Given the description of an element on the screen output the (x, y) to click on. 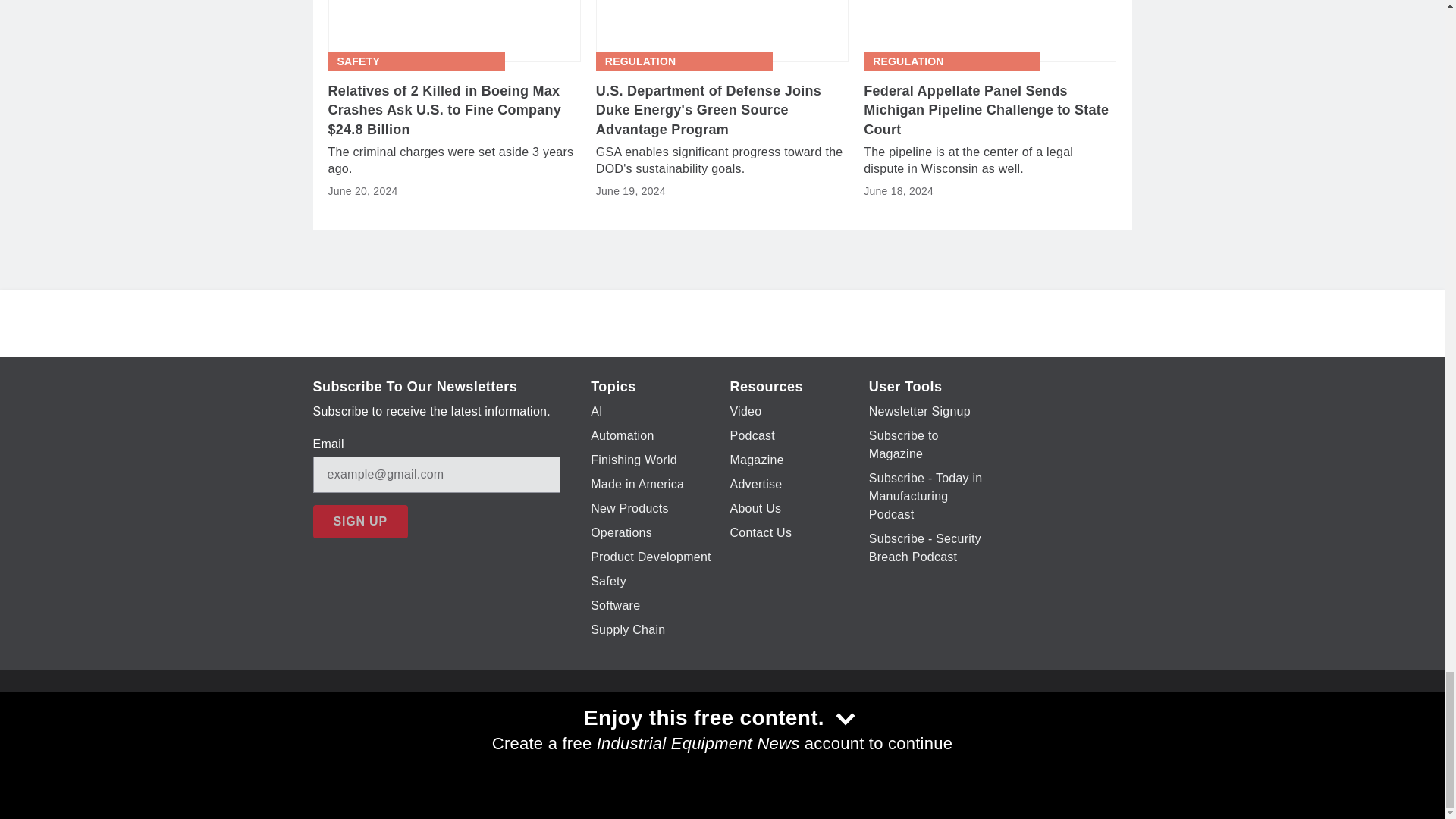
LinkedIn icon (775, 727)
Instagram icon (735, 727)
Twitter X icon (656, 727)
YouTube icon (696, 727)
Facebook icon (617, 727)
